Given the description of an element on the screen output the (x, y) to click on. 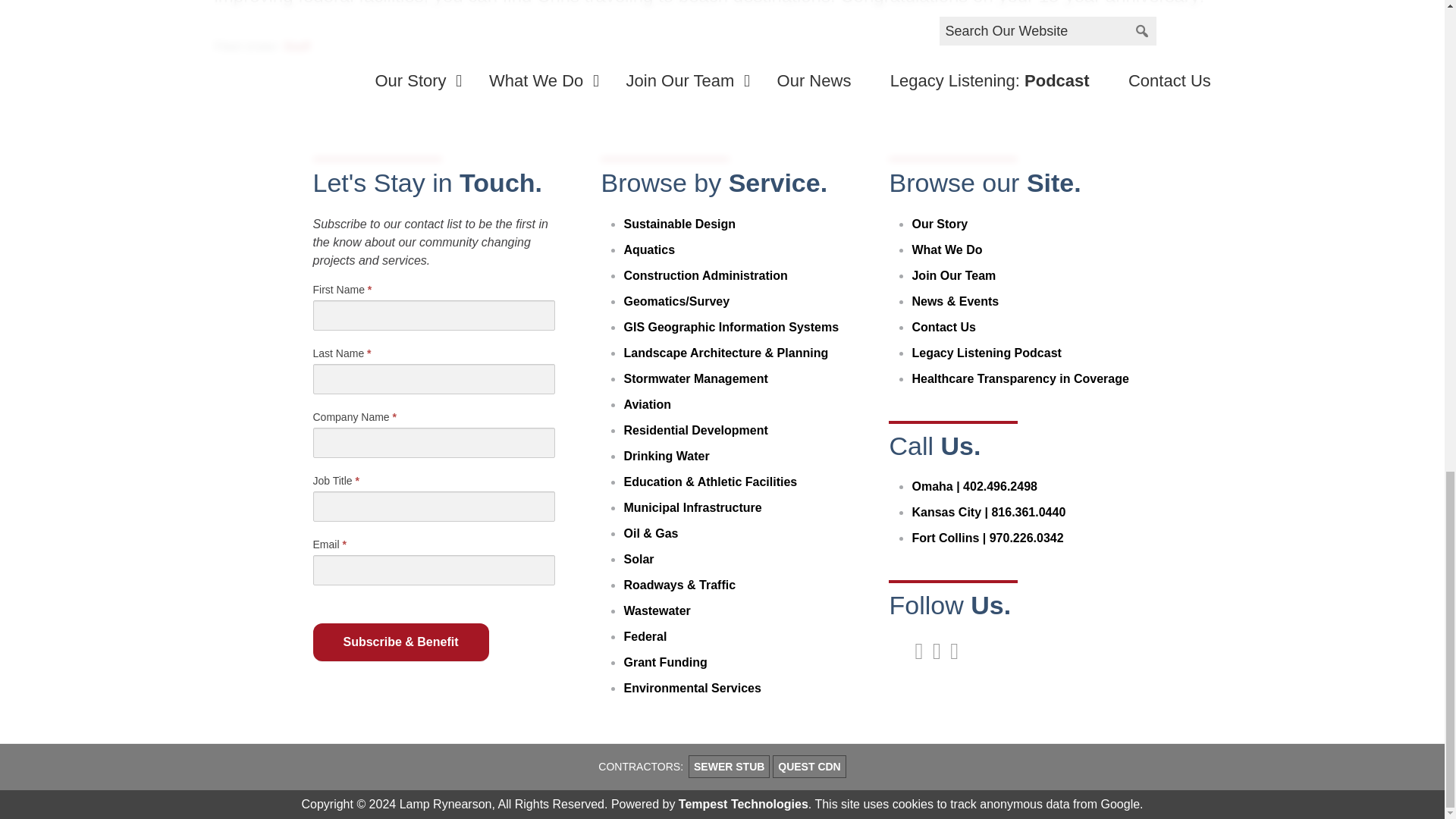
Drinking Water (666, 455)
Construction Administration (705, 275)
GIS Geographic Information Systems (730, 327)
Residential Development (695, 430)
Stormwater Management (695, 378)
Aquatics (649, 249)
Sustainable Design (679, 223)
Aviation (647, 404)
